Given the description of an element on the screen output the (x, y) to click on. 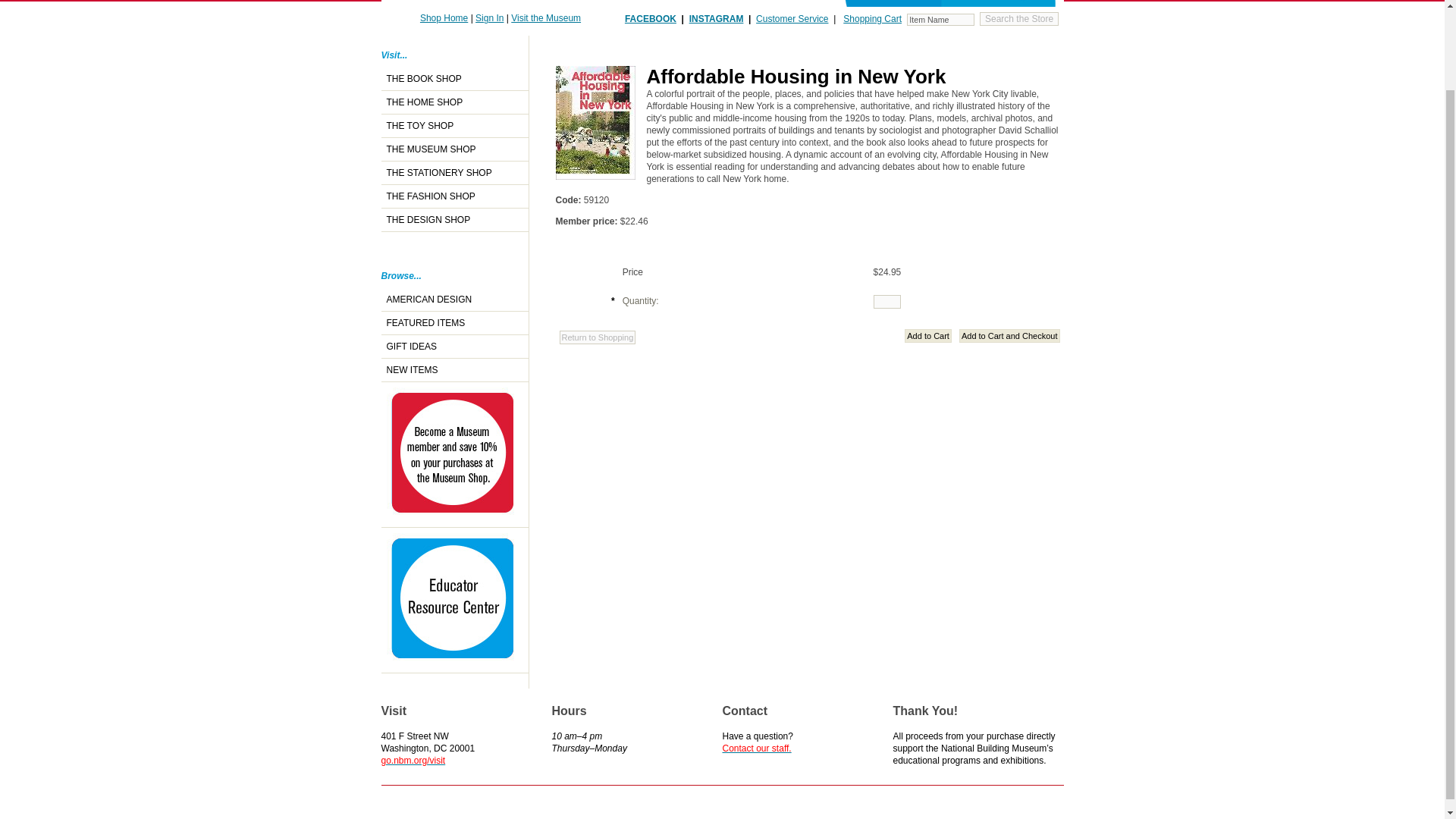
Visit the Museum (545, 18)
THE DESIGN SHOP (453, 219)
Sign In (489, 18)
Customer Service (791, 18)
Search the Store (1018, 18)
Item Name (940, 19)
Return to Shopping (597, 336)
Shopping Cart (872, 18)
NEW ITEMS (453, 370)
Contact our staff. (756, 747)
Search the Store (1018, 18)
THE MUSEUM SHOP (453, 149)
THE FASHION SHOP (453, 196)
Add to Cart (928, 335)
THE HOME SHOP (453, 102)
